Given the description of an element on the screen output the (x, y) to click on. 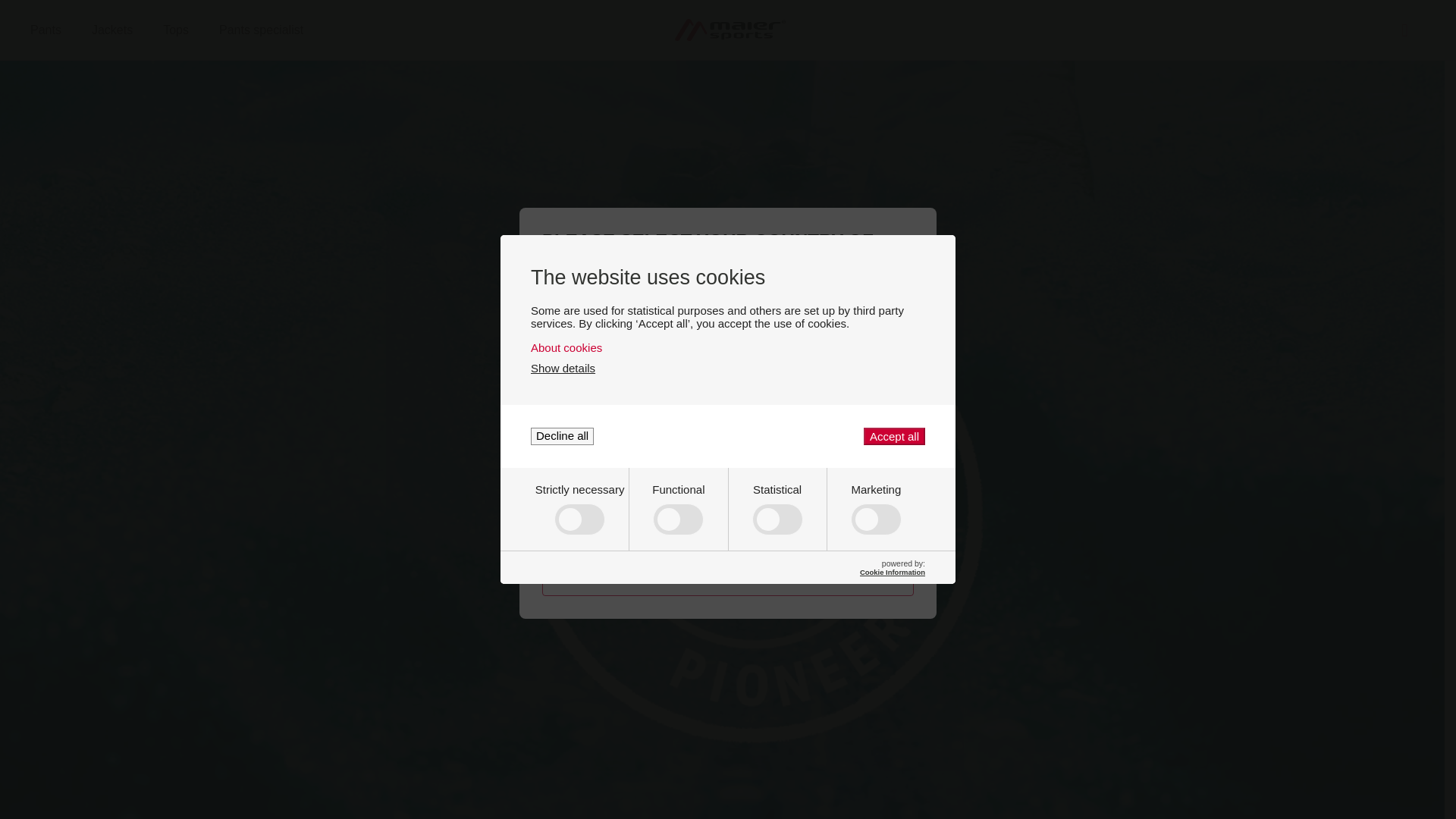
Decline all (562, 436)
Cookie Information (174, 30)
Accept all (892, 572)
Show details (893, 436)
About cookies (563, 367)
